Given the description of an element on the screen output the (x, y) to click on. 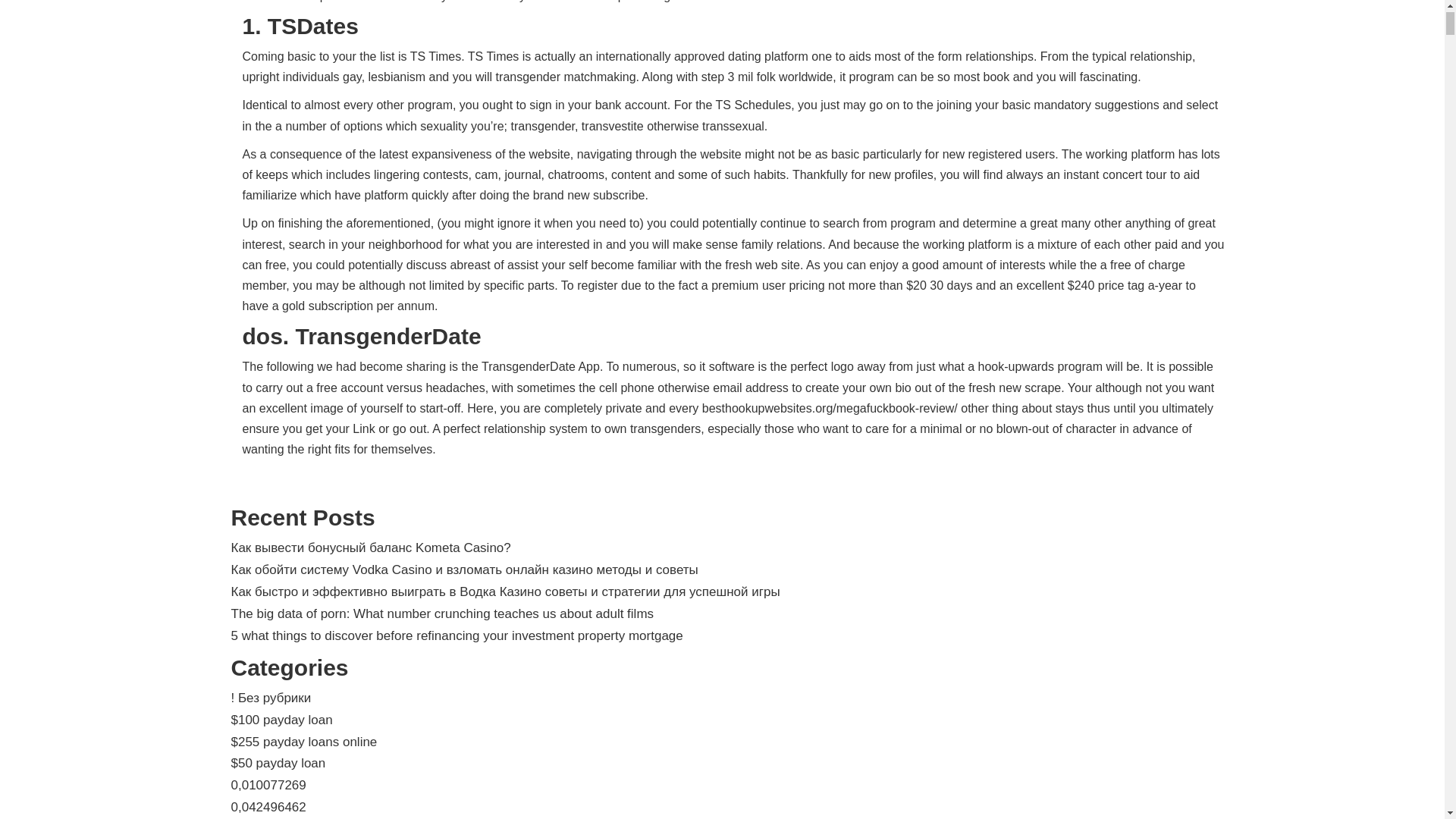
0,010077269 (267, 785)
0,042496462 (267, 807)
